Given the description of an element on the screen output the (x, y) to click on. 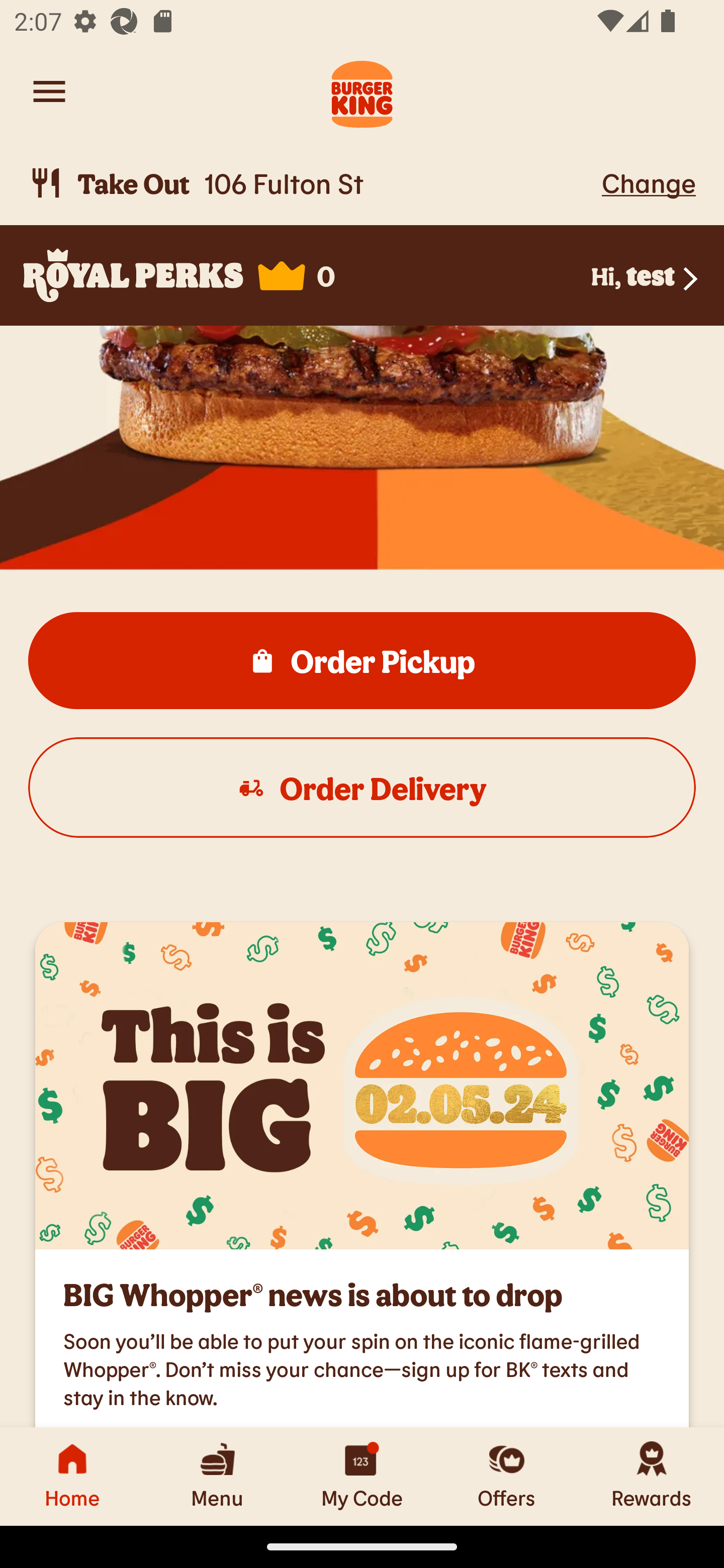
Burger King Logo. Navigate to Home (362, 91)
Navigate to account menu  (49, 91)
Take Out, 106 Fulton St  Take Out 106 Fulton St (311, 183)
Change (648, 182)
, Order Pickup  Order Pickup (361, 659)
, Order Delivery  Order Delivery (361, 786)
MDW Teaser Auth App (361, 1085)
Home (72, 1475)
Menu (216, 1475)
My Code (361, 1475)
Offers (506, 1475)
Rewards (651, 1475)
